Given the description of an element on the screen output the (x, y) to click on. 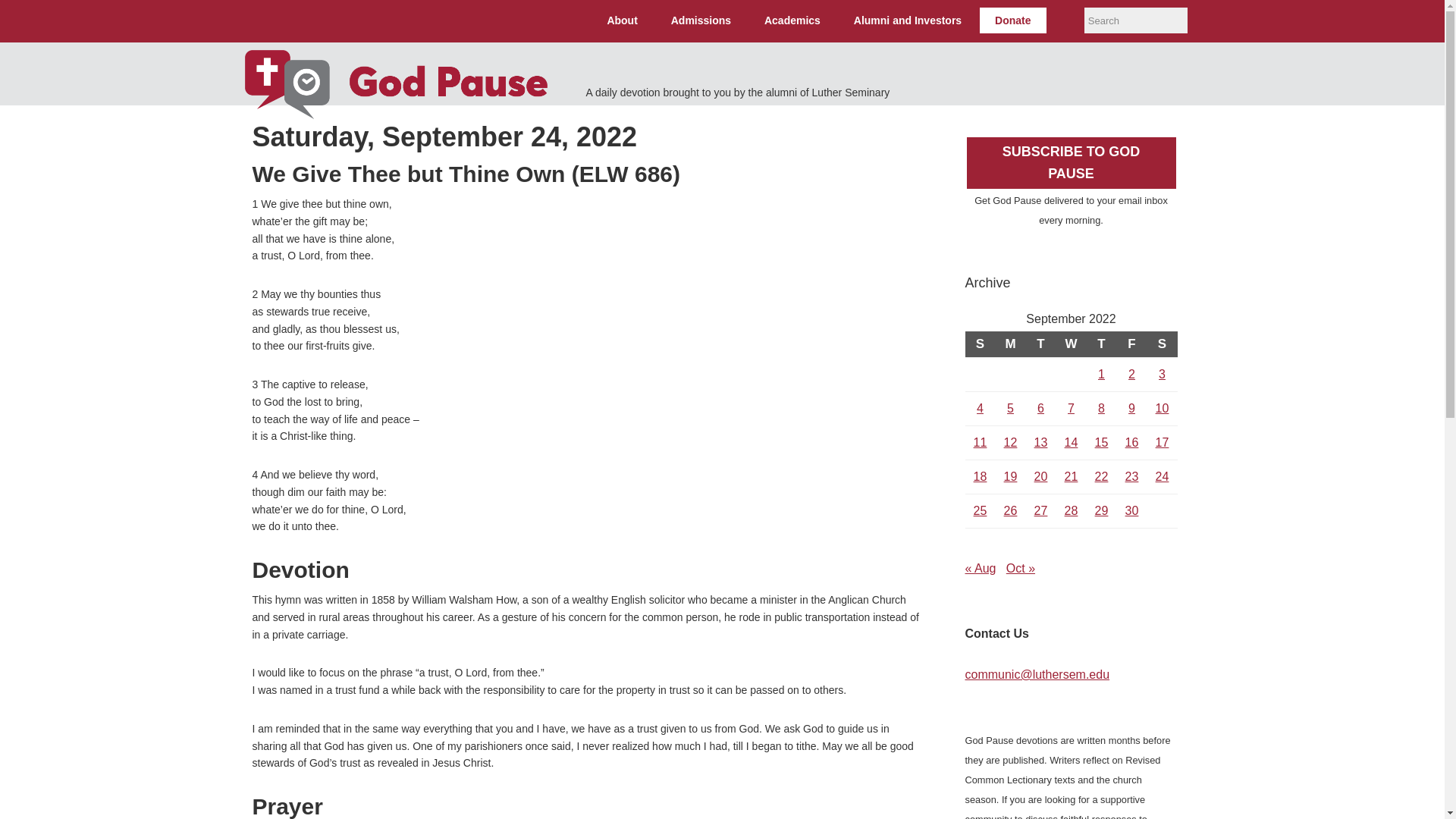
Thursday (1101, 344)
Alumni and Investors (907, 20)
Saturday (1161, 344)
Admissions (700, 20)
Luther Seminary (339, 21)
Sunday (978, 344)
Luther Seminary (339, 21)
Wednesday (1070, 344)
About (621, 20)
Monday (1009, 344)
Tuesday (1040, 344)
Academics (792, 20)
Friday (1131, 344)
